Given the description of an element on the screen output the (x, y) to click on. 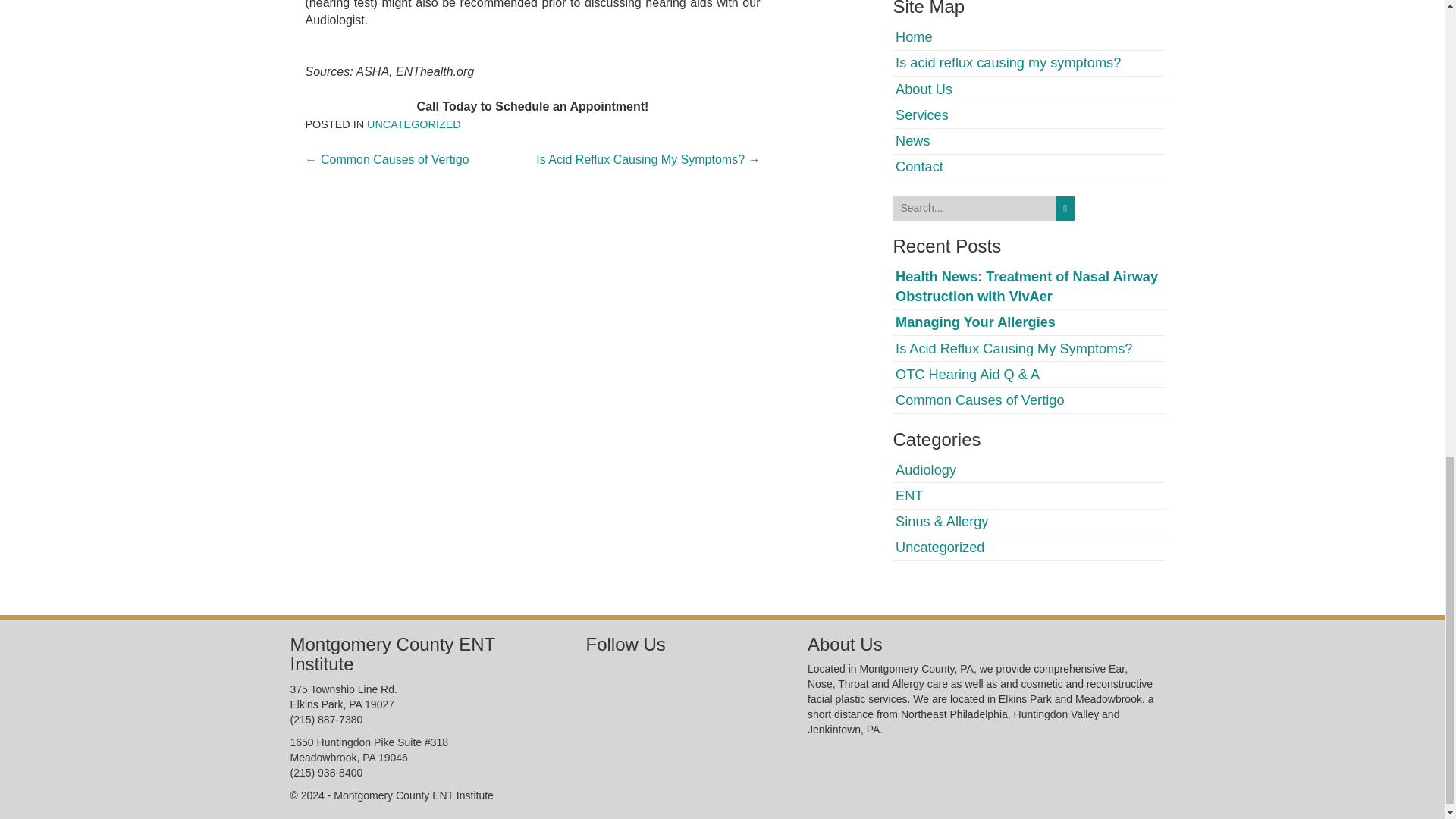
About Us (923, 89)
Is Acid Reflux Causing My Symptoms? (1013, 348)
Managing Your Allergies (975, 322)
Services (922, 114)
News (912, 140)
UNCATEGORIZED (413, 123)
Is acid reflux causing my symptoms? (1008, 62)
Home (914, 37)
Contact (919, 166)
